Given the description of an element on the screen output the (x, y) to click on. 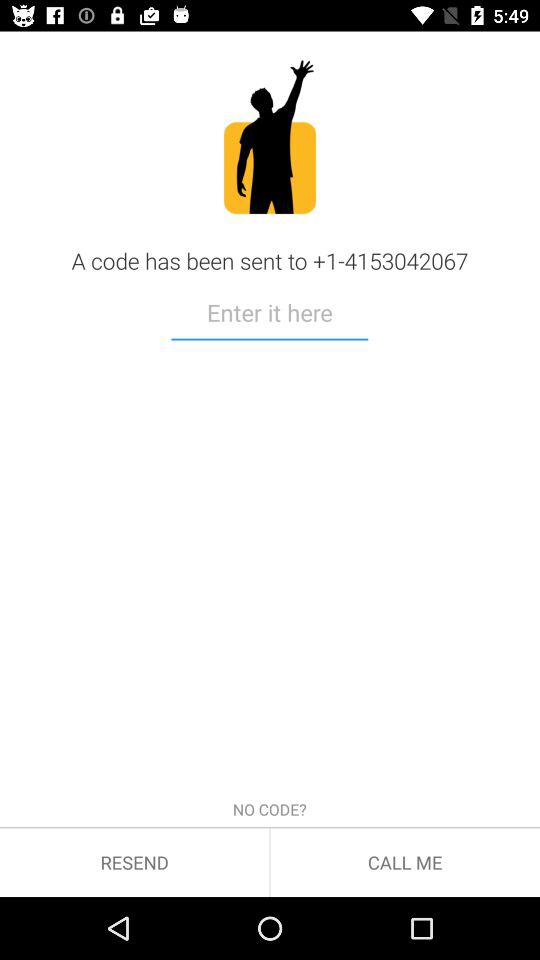
turn off resend (134, 862)
